Given the description of an element on the screen output the (x, y) to click on. 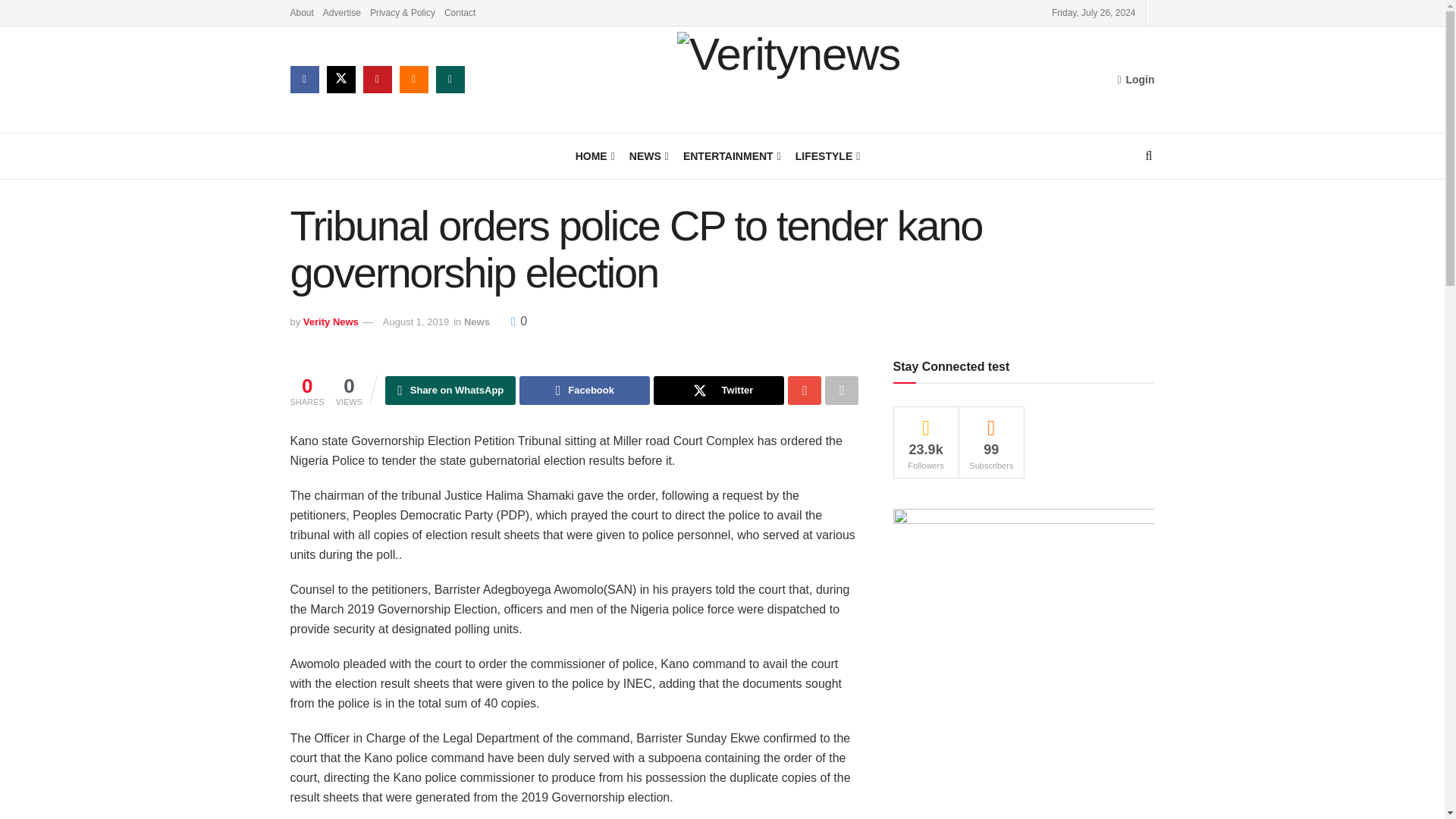
Contact (460, 12)
ENTERTAINMENT (730, 156)
HOME (593, 156)
About (301, 12)
Login (1135, 79)
NEWS (647, 156)
Advertise (342, 12)
